Given the description of an element on the screen output the (x, y) to click on. 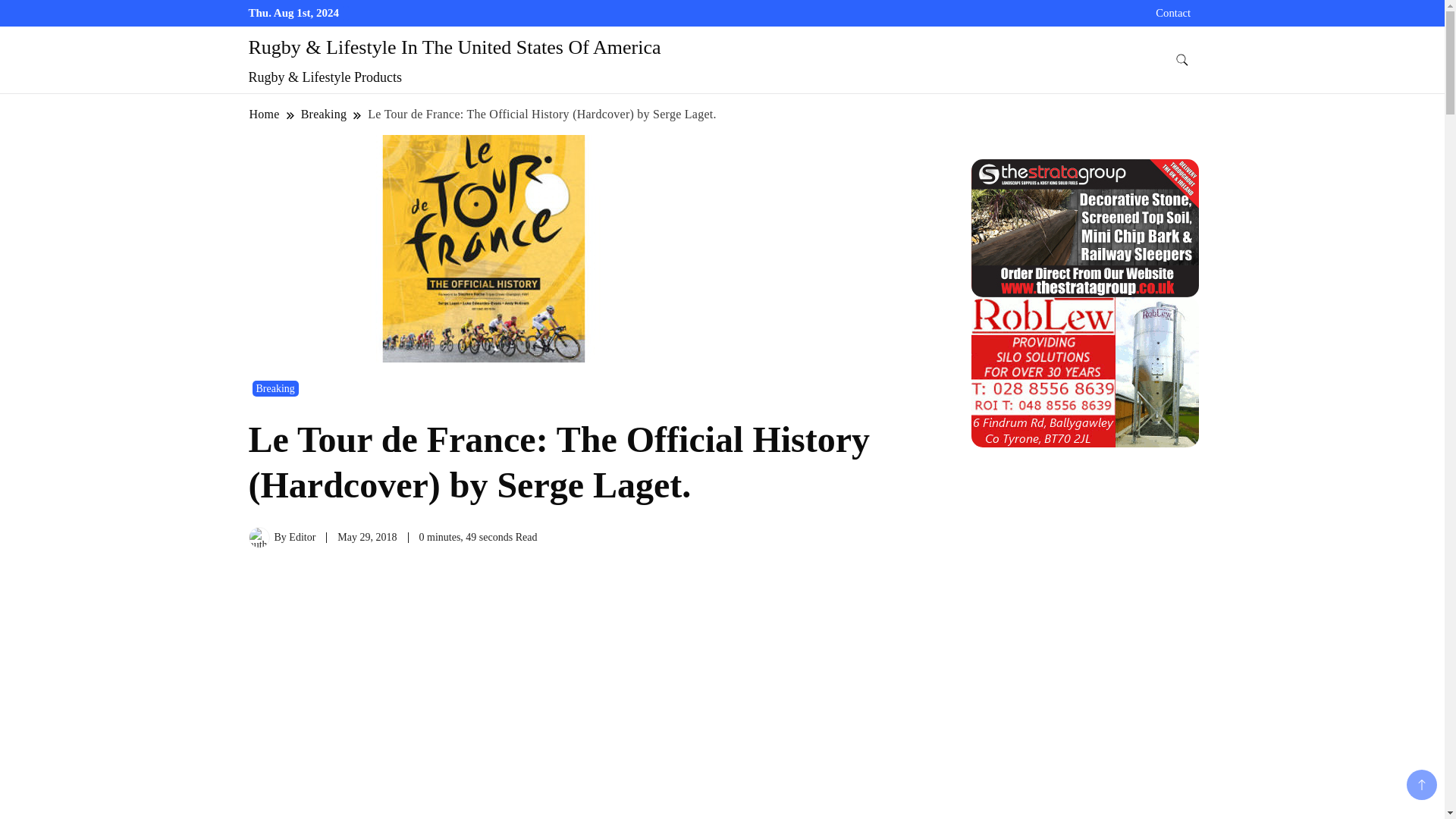
Breaking (323, 114)
May 29, 2018 (366, 536)
Contact (1173, 12)
Home (264, 114)
Editor (301, 536)
Breaking (274, 388)
